Given the description of an element on the screen output the (x, y) to click on. 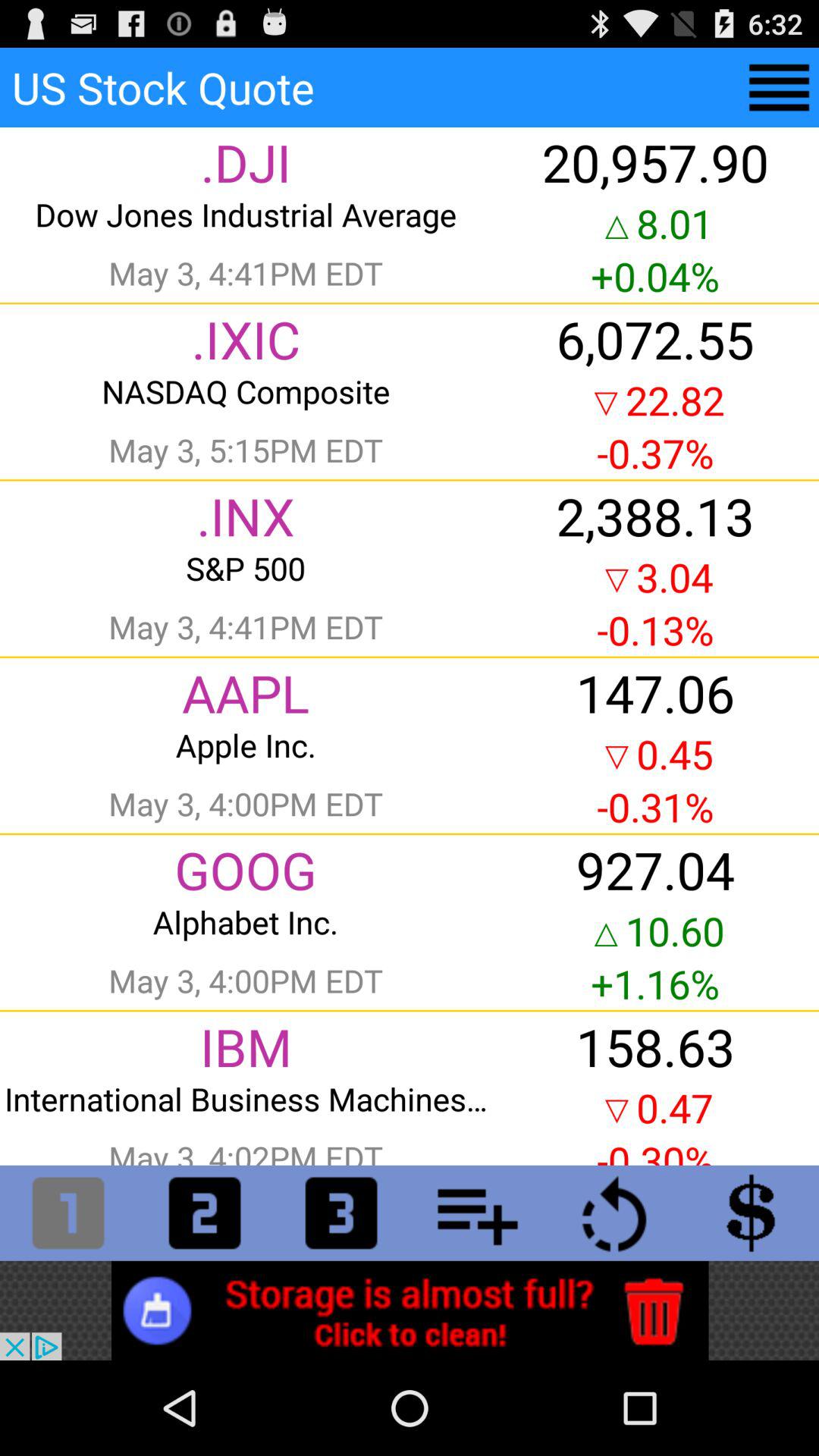
visit advertisement website (409, 1310)
